Given the description of an element on the screen output the (x, y) to click on. 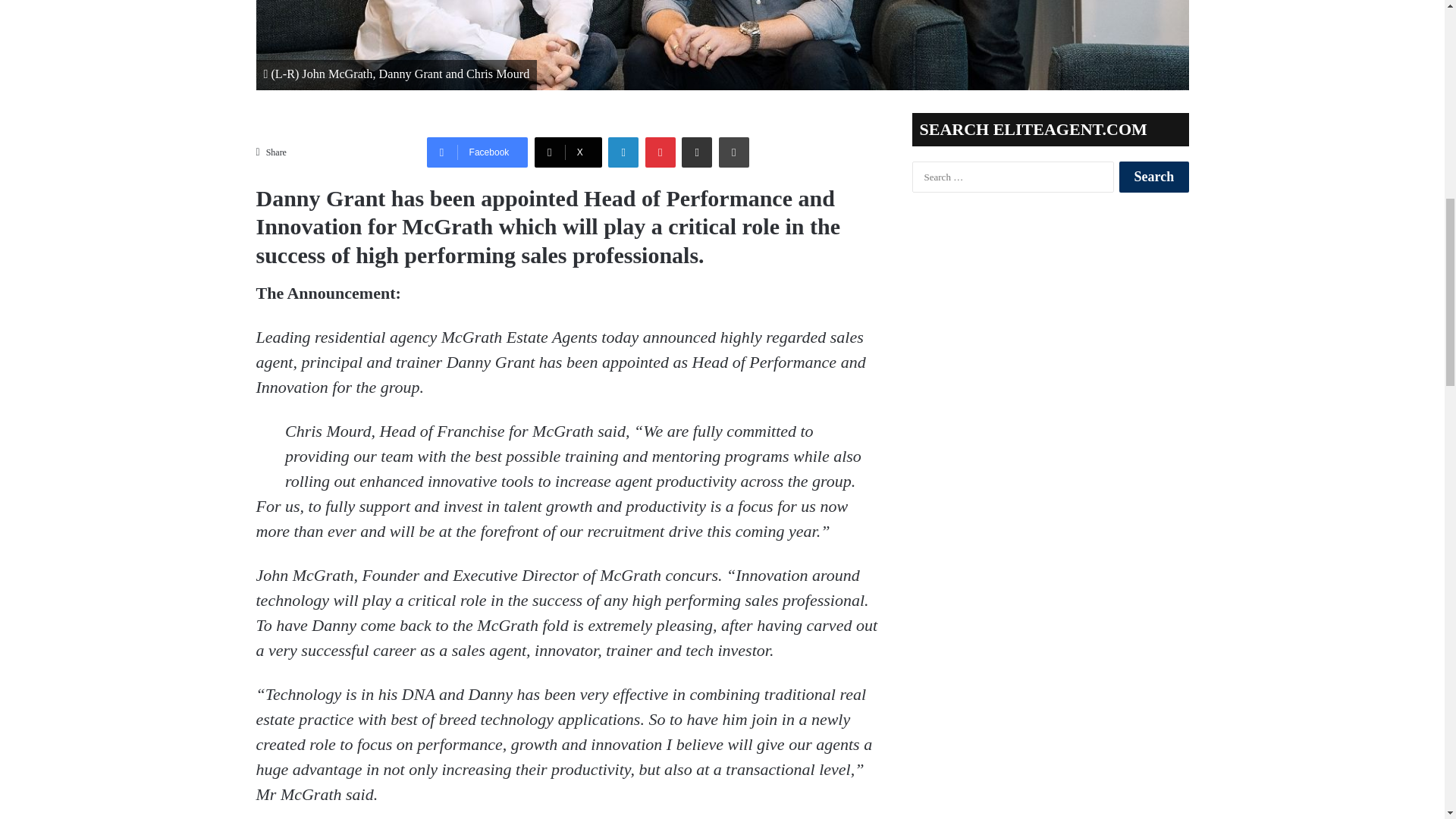
Search (1153, 175)
Pinterest (660, 150)
X (568, 150)
Search (1153, 175)
Print (734, 150)
LinkedIn (623, 150)
Facebook (477, 150)
Share via Email (696, 150)
